Given the description of an element on the screen output the (x, y) to click on. 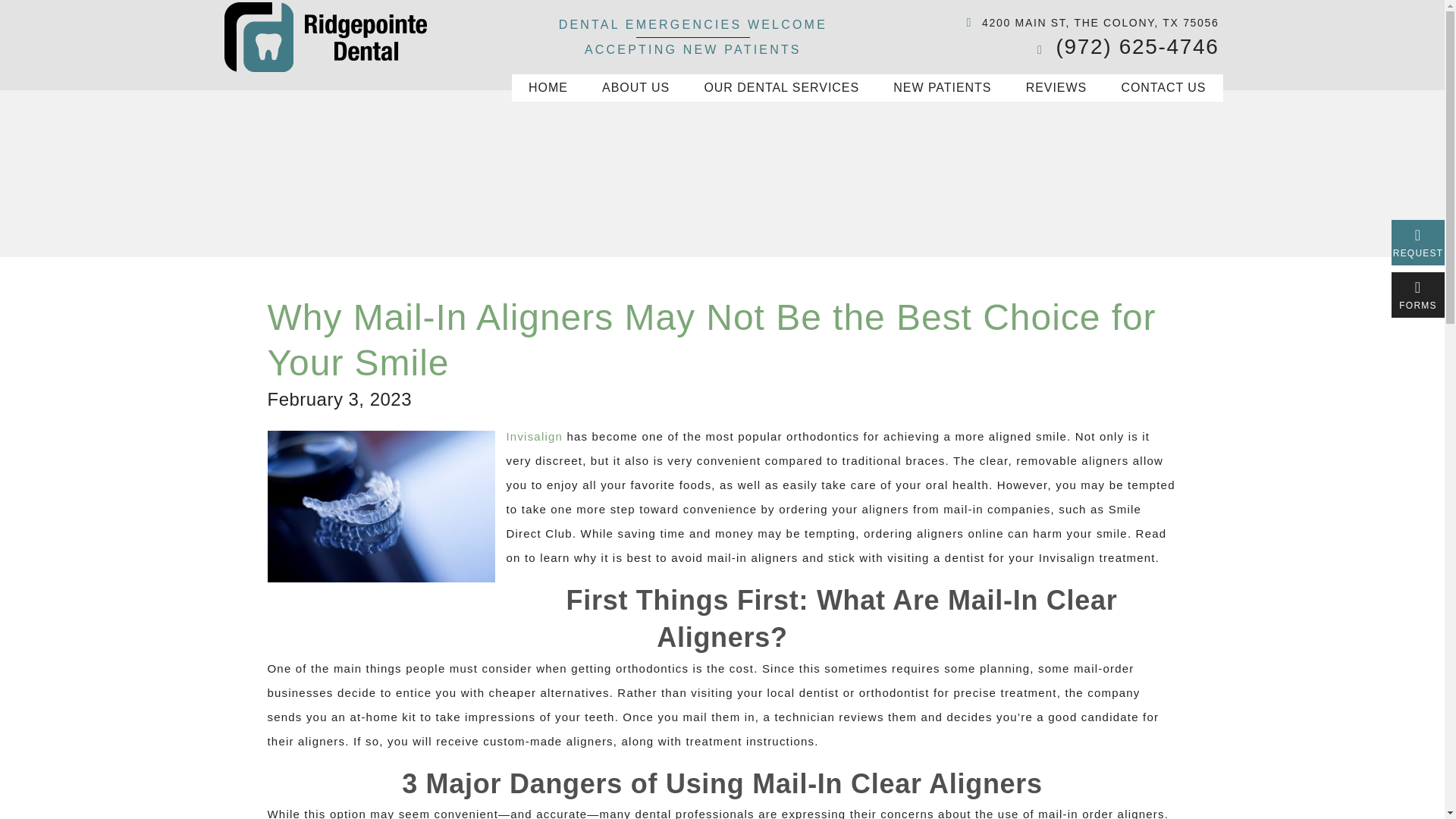
4200 MAIN ST, THE COLONY, TX 75056 (1089, 22)
OUR DENTAL SERVICES (781, 87)
ABOUT US (635, 87)
HOME (548, 87)
DENTAL EMERGENCIES WELCOME (693, 24)
ACCEPTING NEW PATIENTS (693, 50)
